Given the description of an element on the screen output the (x, y) to click on. 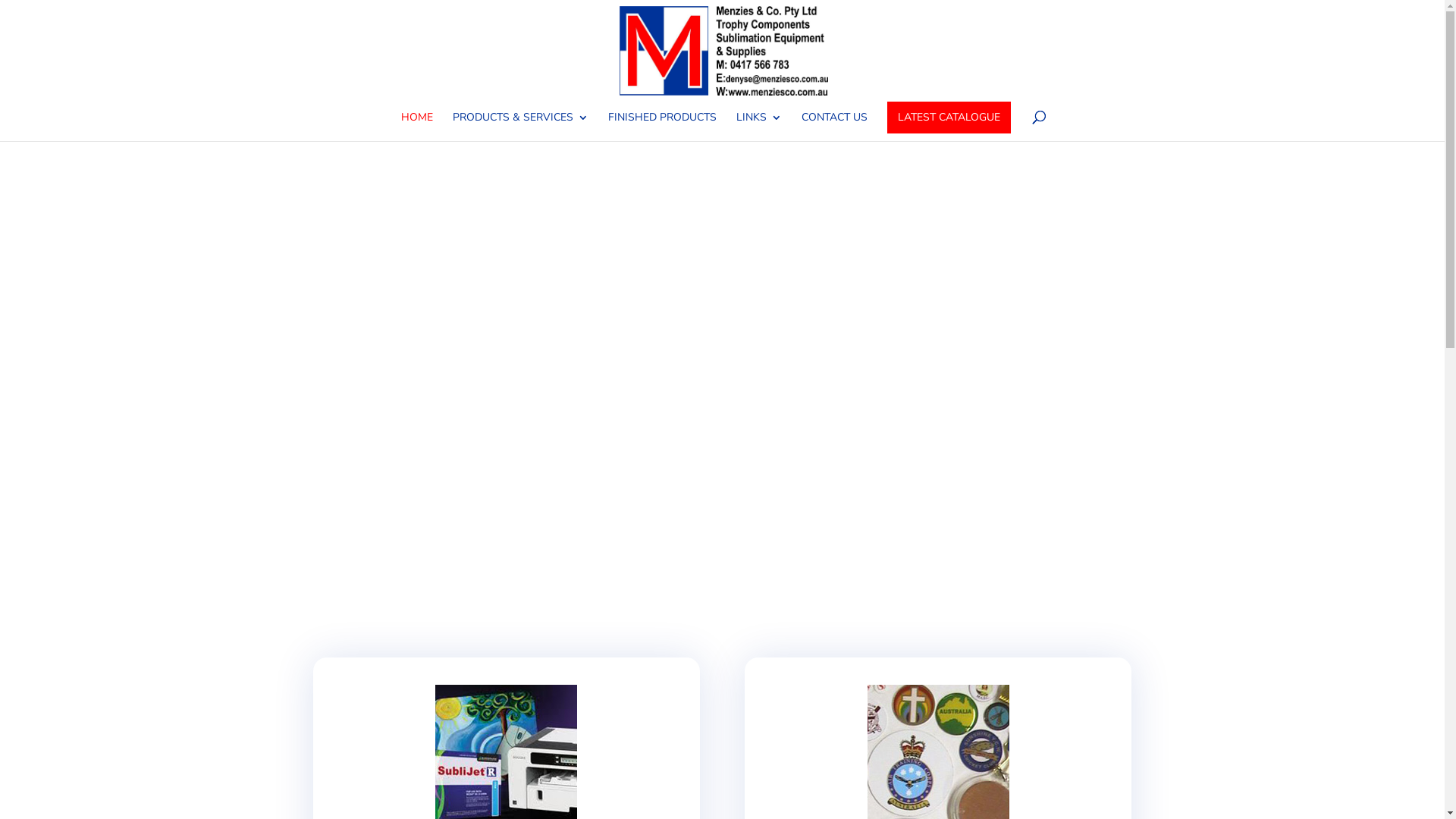
PRODUCTS & SERVICES Element type: text (519, 126)
LINKS Element type: text (758, 126)
CONTACT US Element type: text (833, 126)
HOME Element type: text (416, 126)
LATEST CATALOGUE Element type: text (948, 117)
FINISHED PRODUCTS Element type: text (662, 126)
